Given the description of an element on the screen output the (x, y) to click on. 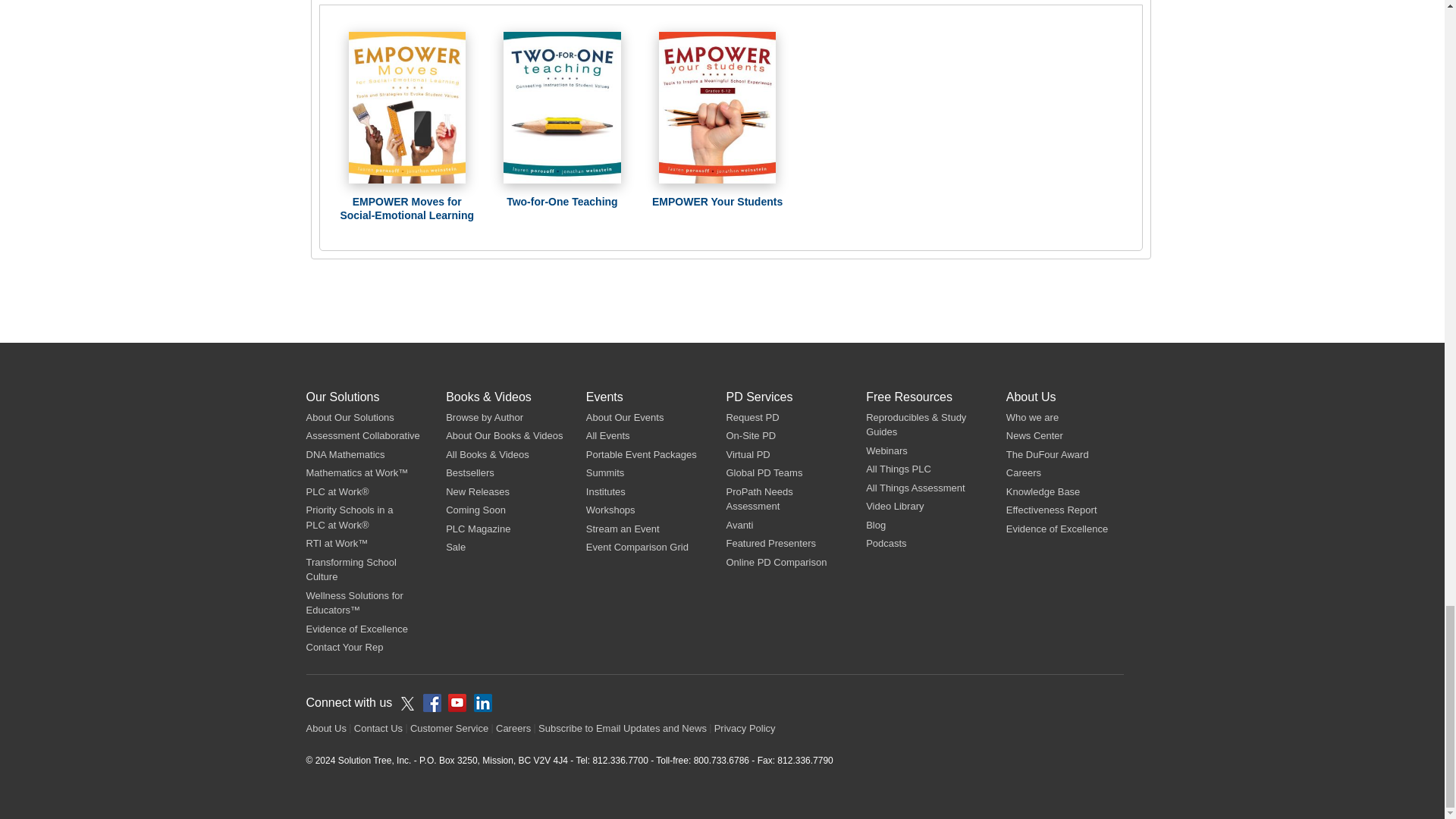
EMPOWER Your Students (717, 107)
EMPOWER Moves for Social-Emotional Learning (407, 107)
Two-for-One Teaching (561, 107)
